Given the description of an element on the screen output the (x, y) to click on. 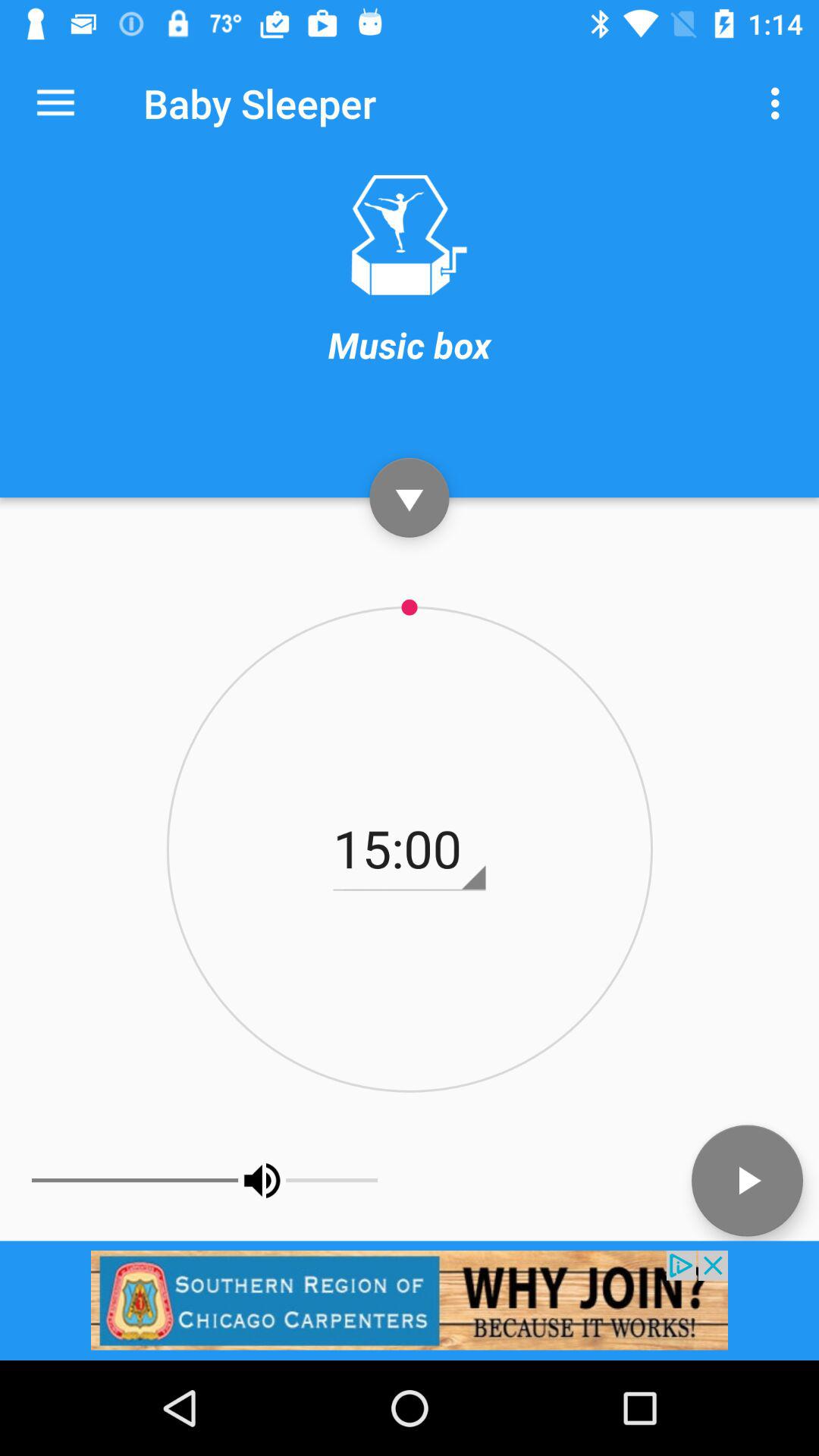
go down (409, 497)
